Given the description of an element on the screen output the (x, y) to click on. 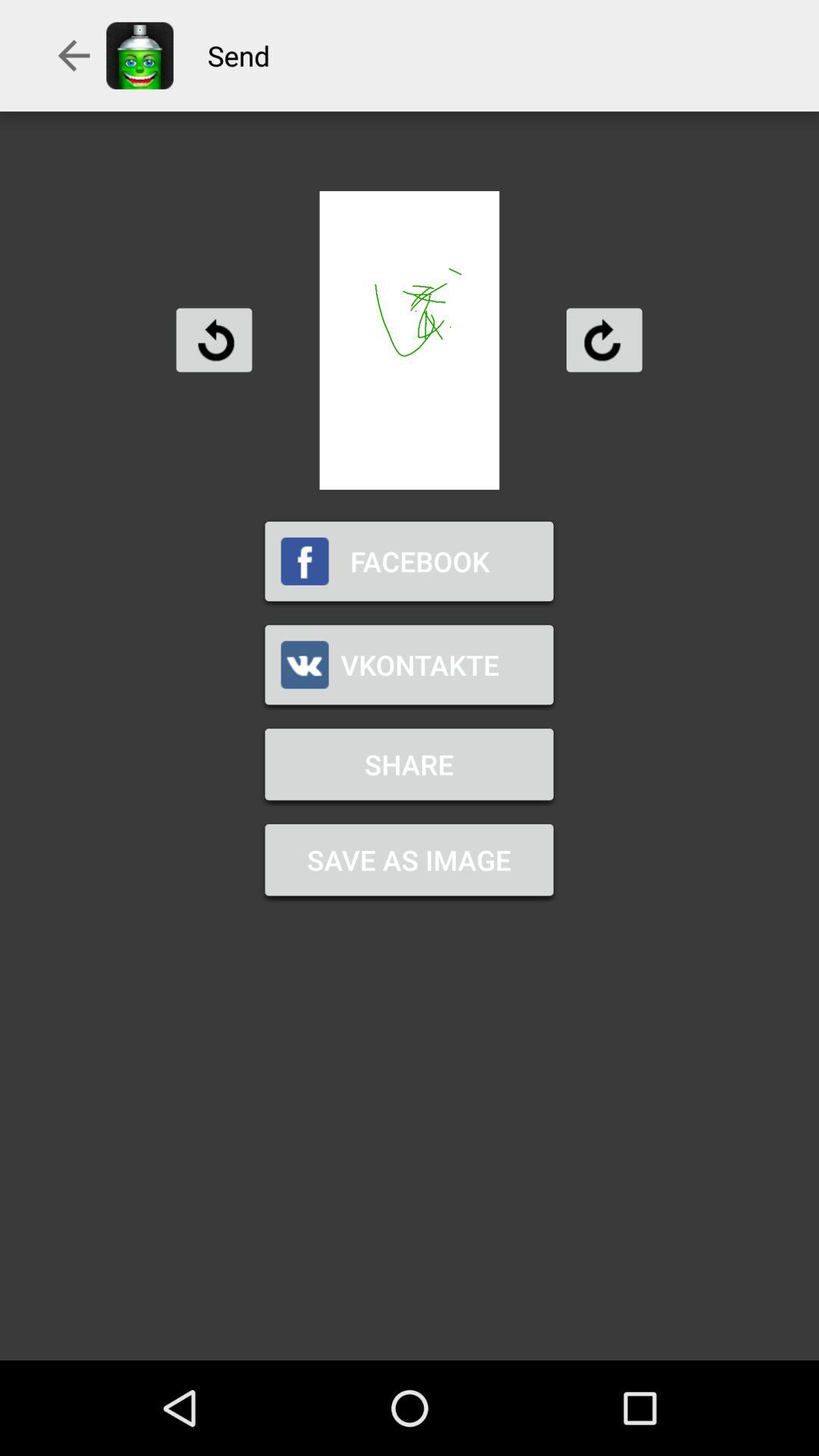
go forward (604, 339)
